Given the description of an element on the screen output the (x, y) to click on. 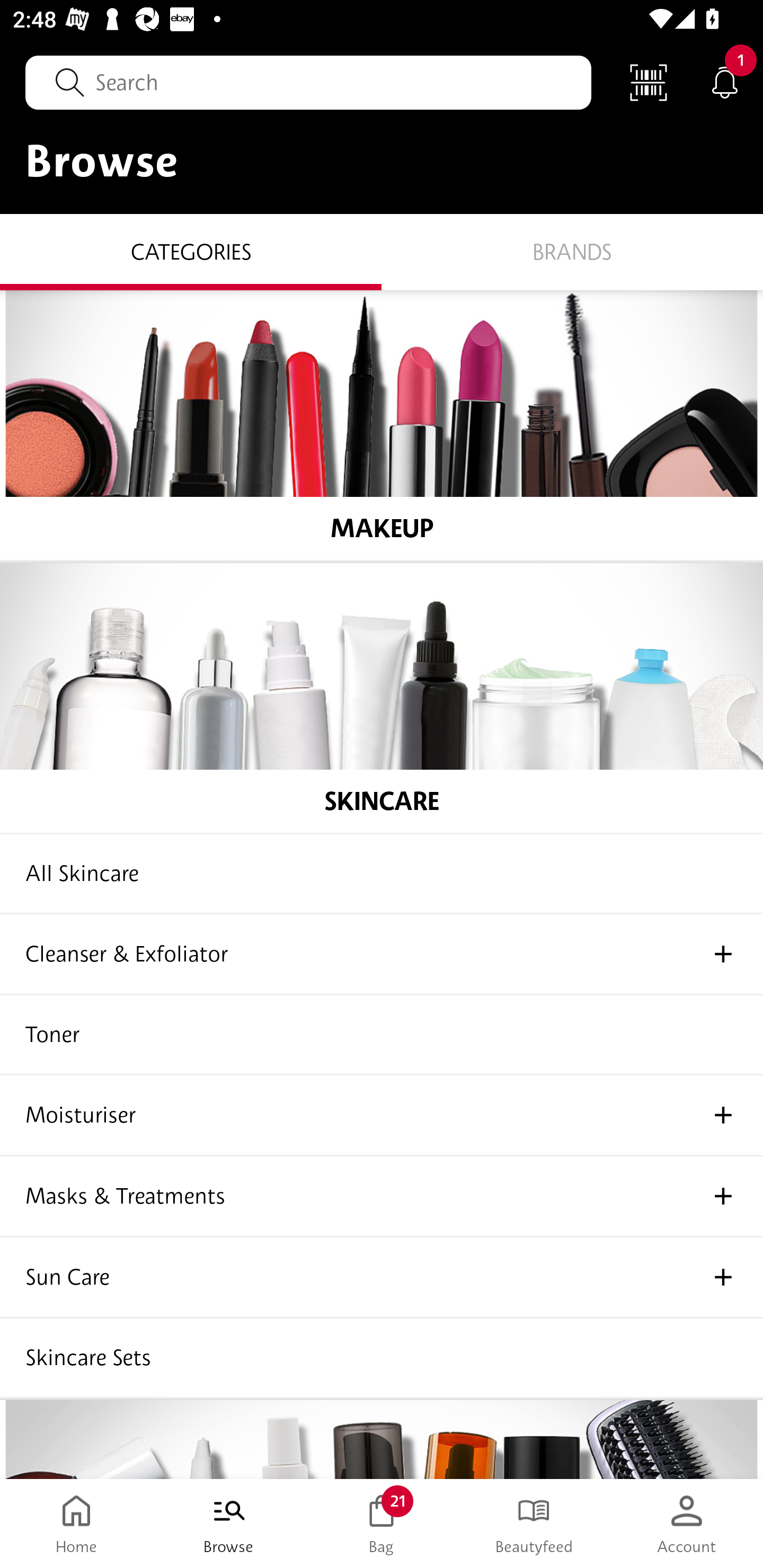
Scan Code (648, 81)
Notifications (724, 81)
Search (308, 81)
Brands BRANDS (572, 251)
MAKEUP (381, 425)
All Skincare (381, 874)
Cleanser & Exfoliator (381, 954)
Toner (381, 1035)
Moisturiser (381, 1116)
Masks & Treatments (381, 1197)
Sun Care (381, 1277)
Skincare Sets (381, 1358)
Home (76, 1523)
Bag 21 Bag (381, 1523)
Beautyfeed (533, 1523)
Account (686, 1523)
